Given the description of an element on the screen output the (x, y) to click on. 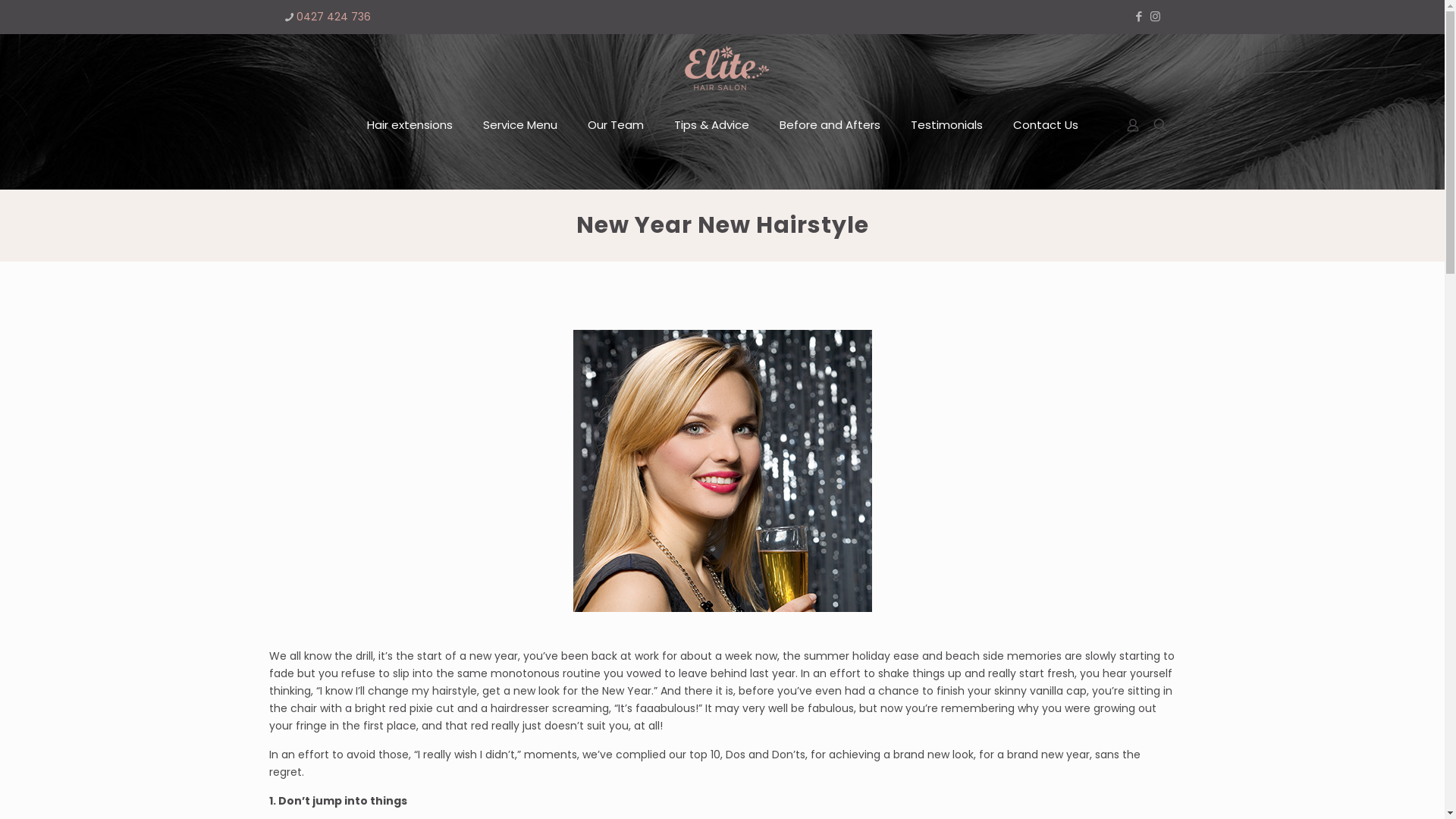
Instagram Element type: hover (1155, 16)
Tips & Advice Element type: text (710, 124)
0427 424 736 Element type: text (332, 16)
Before and Afters Element type: text (829, 124)
Testimonials Element type: text (945, 124)
Contact Us Element type: text (1045, 124)
Elite Hair Extensions Element type: hover (722, 68)
Hair extensions Element type: text (409, 124)
Service Menu Element type: text (519, 124)
Facebook Element type: hover (1138, 16)
Our Team Element type: text (614, 124)
